Given the description of an element on the screen output the (x, y) to click on. 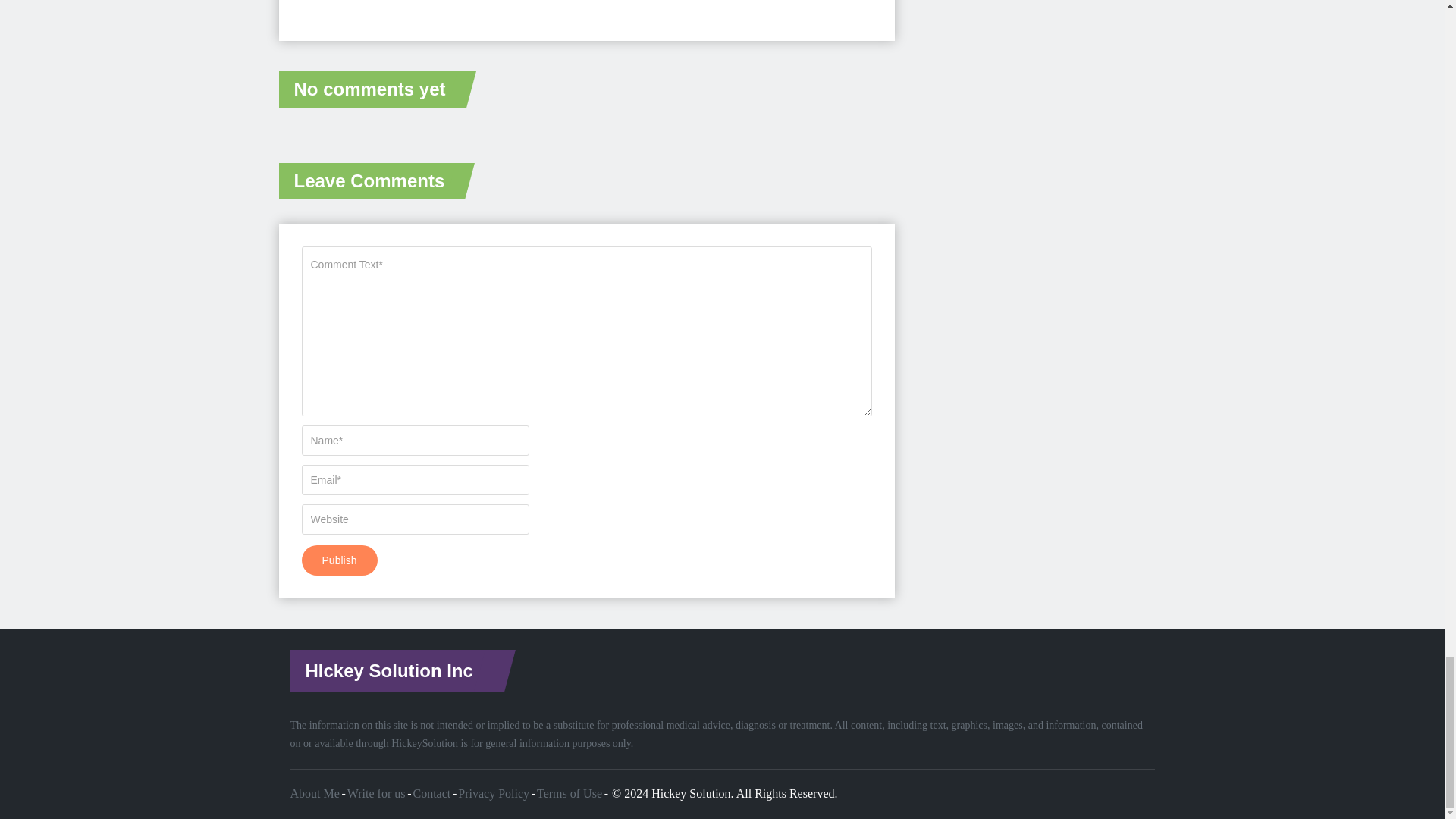
Publish (339, 560)
 Tips and Guidance to Make a Positive Change in Your Life (690, 793)
